Given the description of an element on the screen output the (x, y) to click on. 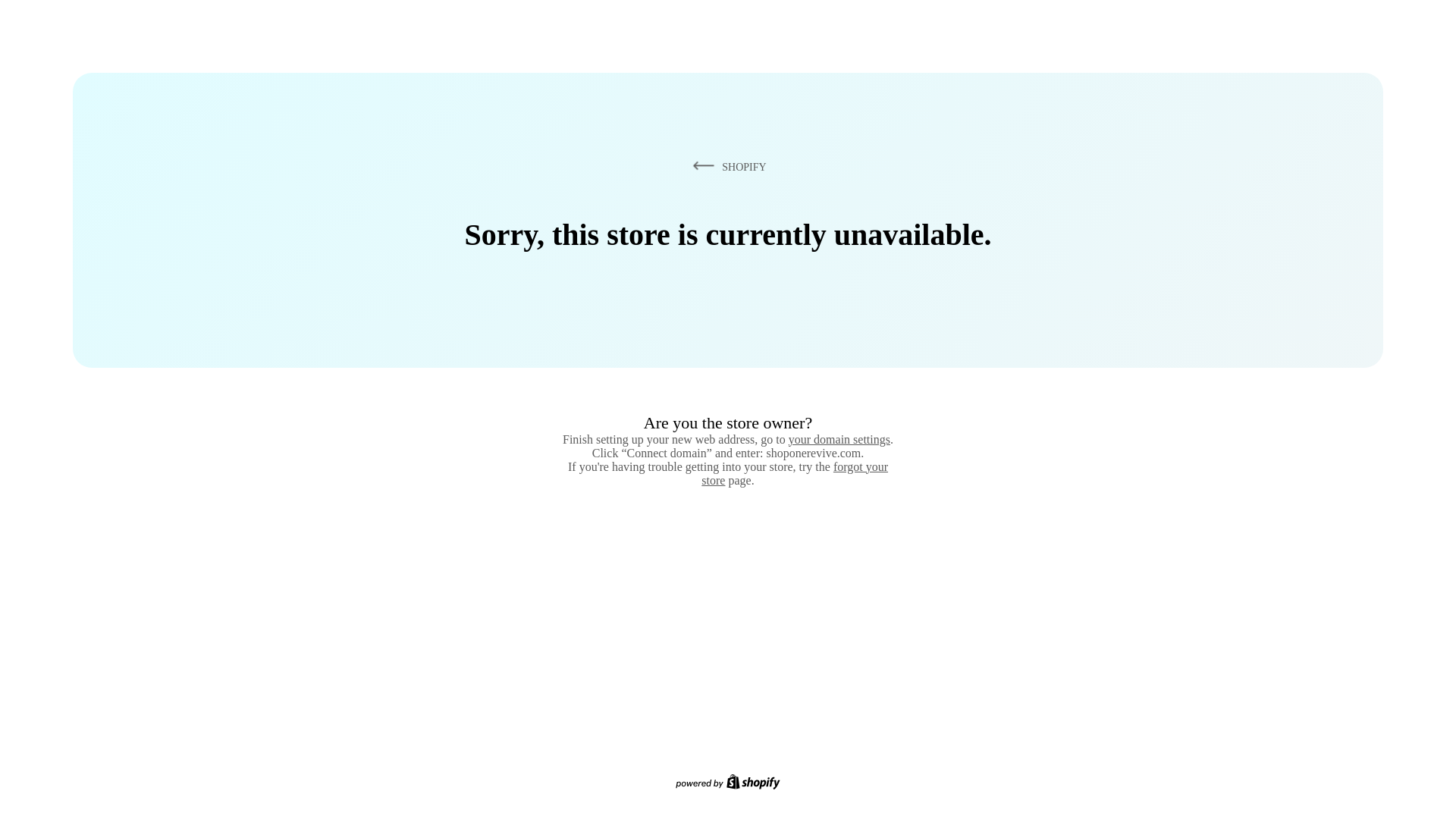
your domain settings (839, 439)
forgot your store (794, 473)
SHOPIFY (726, 166)
